Given the description of an element on the screen output the (x, y) to click on. 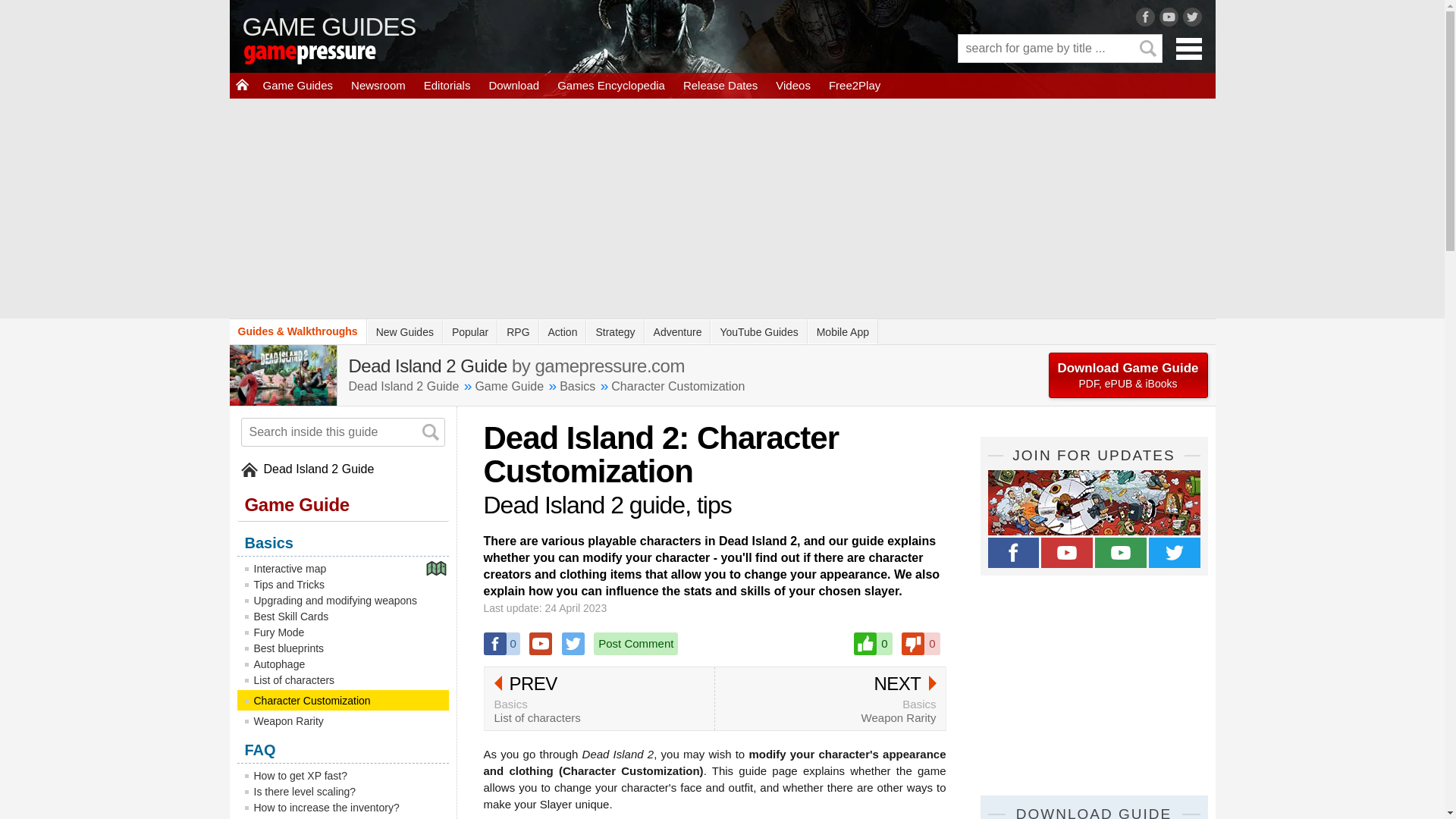
Mobile App (599, 698)
Game Guides (842, 331)
Good (297, 85)
Basics (872, 643)
Free2Play (577, 386)
Comments (854, 85)
Editorials (636, 643)
Bad (447, 85)
Game Guides on Youtube (920, 643)
3rd party ad content (1120, 552)
Youtube (1093, 685)
Release Dates (540, 643)
Strategy (720, 85)
Twitter (614, 331)
